Given the description of an element on the screen output the (x, y) to click on. 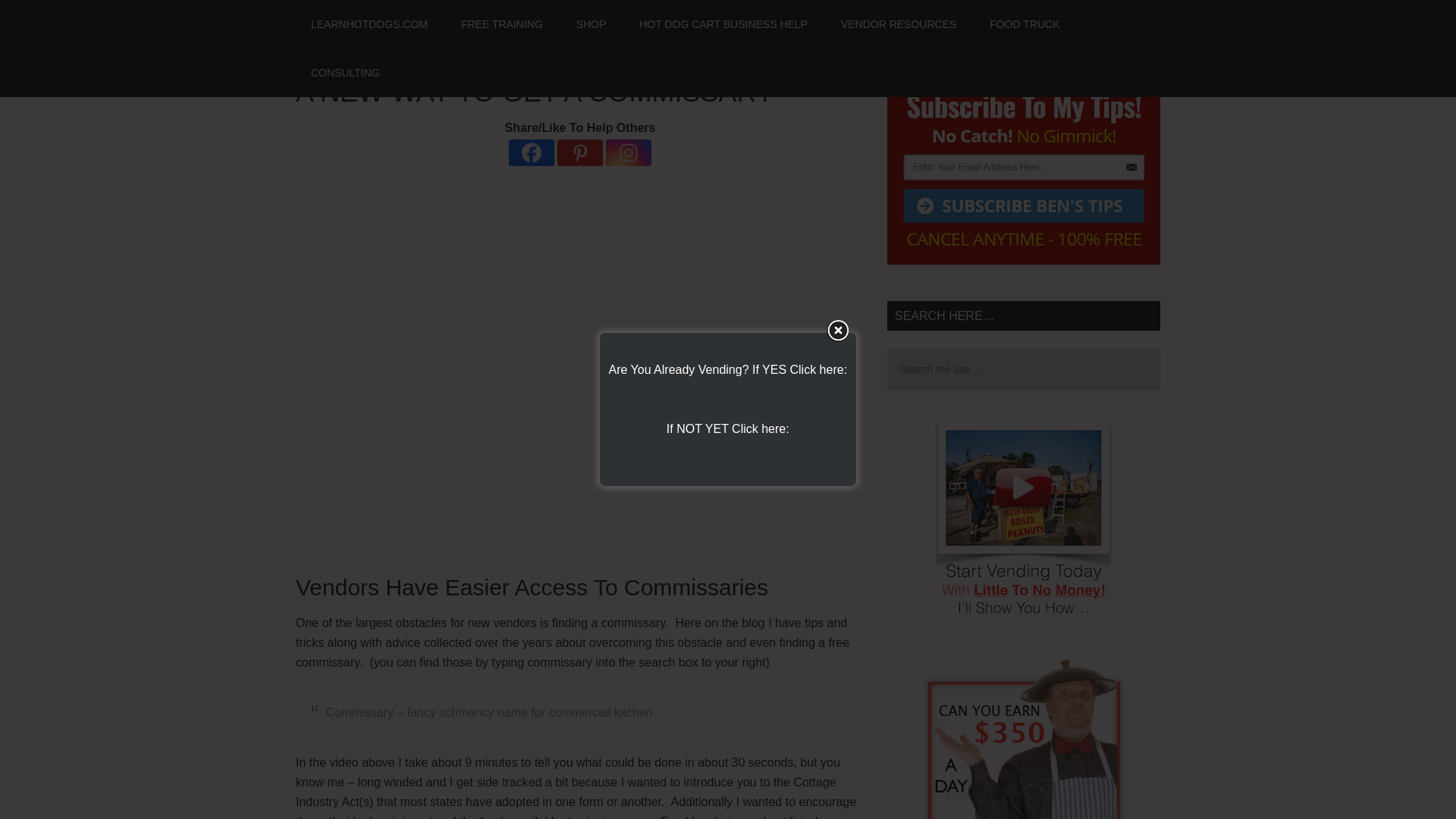
FREE TRAINING (501, 24)
FOOD TRUCK (1024, 24)
LEARNHOTDOGS.COM (368, 24)
CONSULTING (344, 72)
Facebook (531, 152)
VENDOR RESOURCES (898, 24)
Instagram (627, 152)
